Given the description of an element on the screen output the (x, y) to click on. 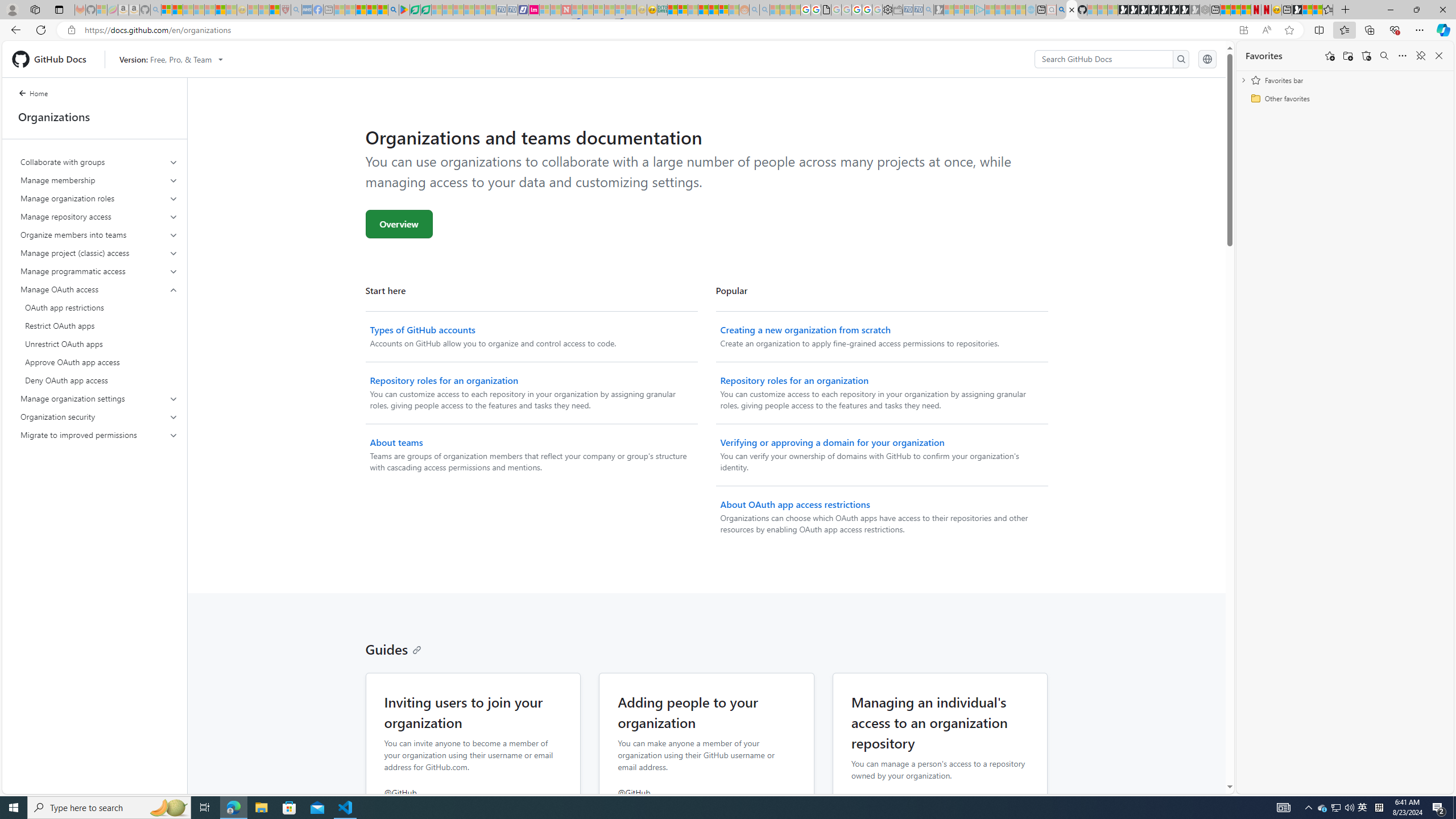
Manage organization settings (99, 398)
Manage organization roles (99, 198)
Restrict OAuth apps (99, 325)
Select language: current language is English (1207, 58)
Add this page to favorites (1330, 55)
